Given the description of an element on the screen output the (x, y) to click on. 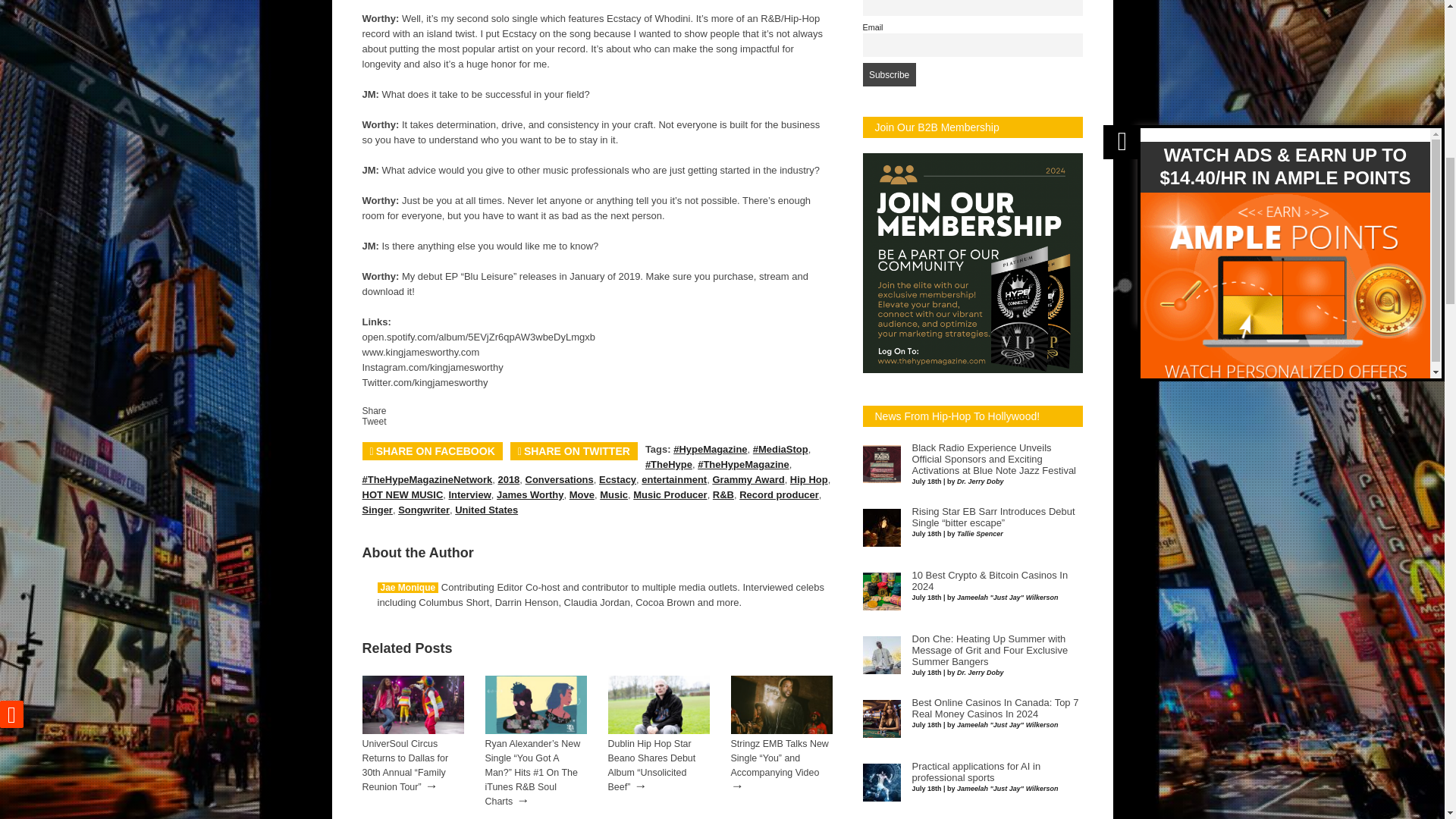
Tweet (374, 421)
2018 (508, 479)
Ecstacy (617, 479)
Share (374, 410)
SHARE ON FACEBOOK (432, 451)
Posts by Jae Monique (408, 587)
Subscribe (889, 74)
Conversations (559, 479)
SHARE ON TWITTER (574, 451)
